Given the description of an element on the screen output the (x, y) to click on. 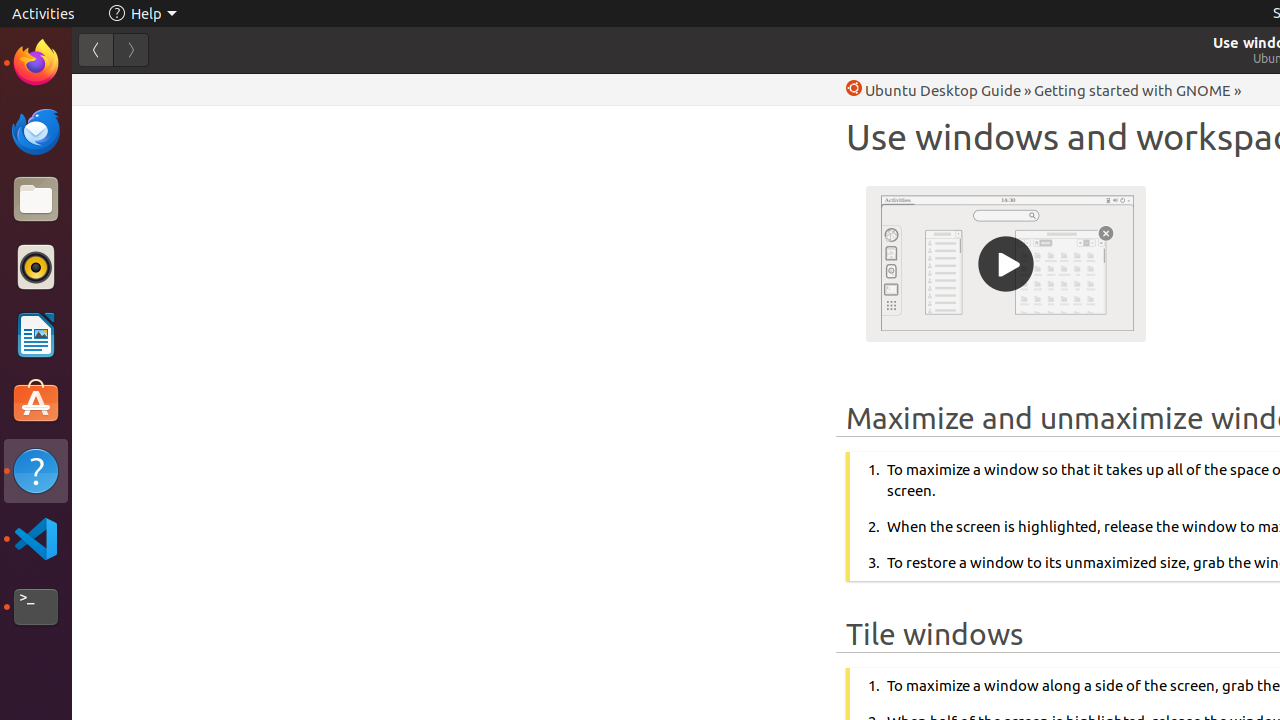
Activities Element type: label (43, 13)
Terminal Element type: push-button (36, 607)
luyi1 Element type: label (133, 89)
